Given the description of an element on the screen output the (x, y) to click on. 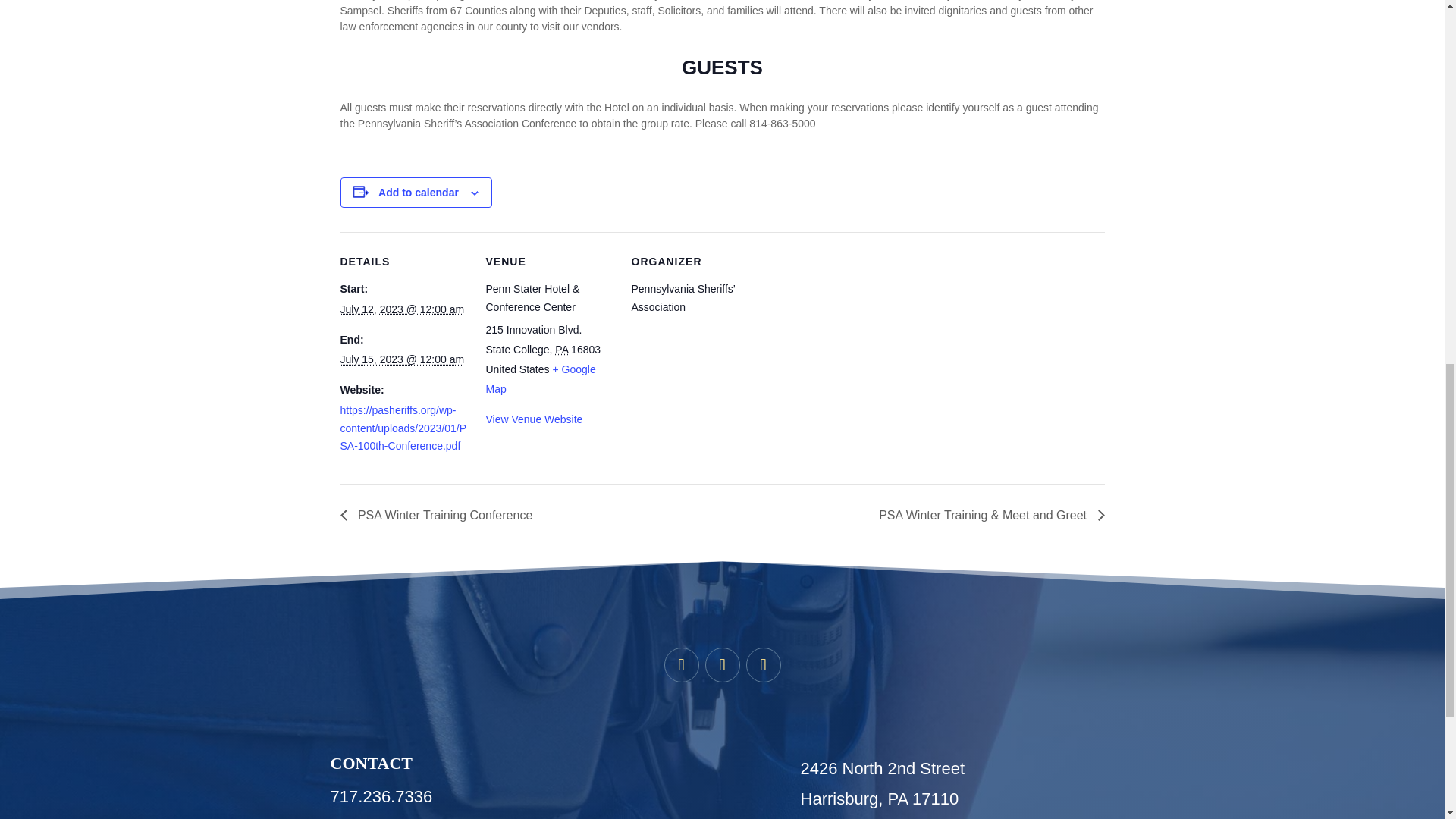
Pennsylvania (560, 349)
Click to view a Google Map (539, 378)
Follow on X (721, 664)
Follow on Facebook (680, 664)
2023-07-15 (401, 358)
Follow on Instagram (762, 664)
2023-07-12 (401, 309)
